Given the description of an element on the screen output the (x, y) to click on. 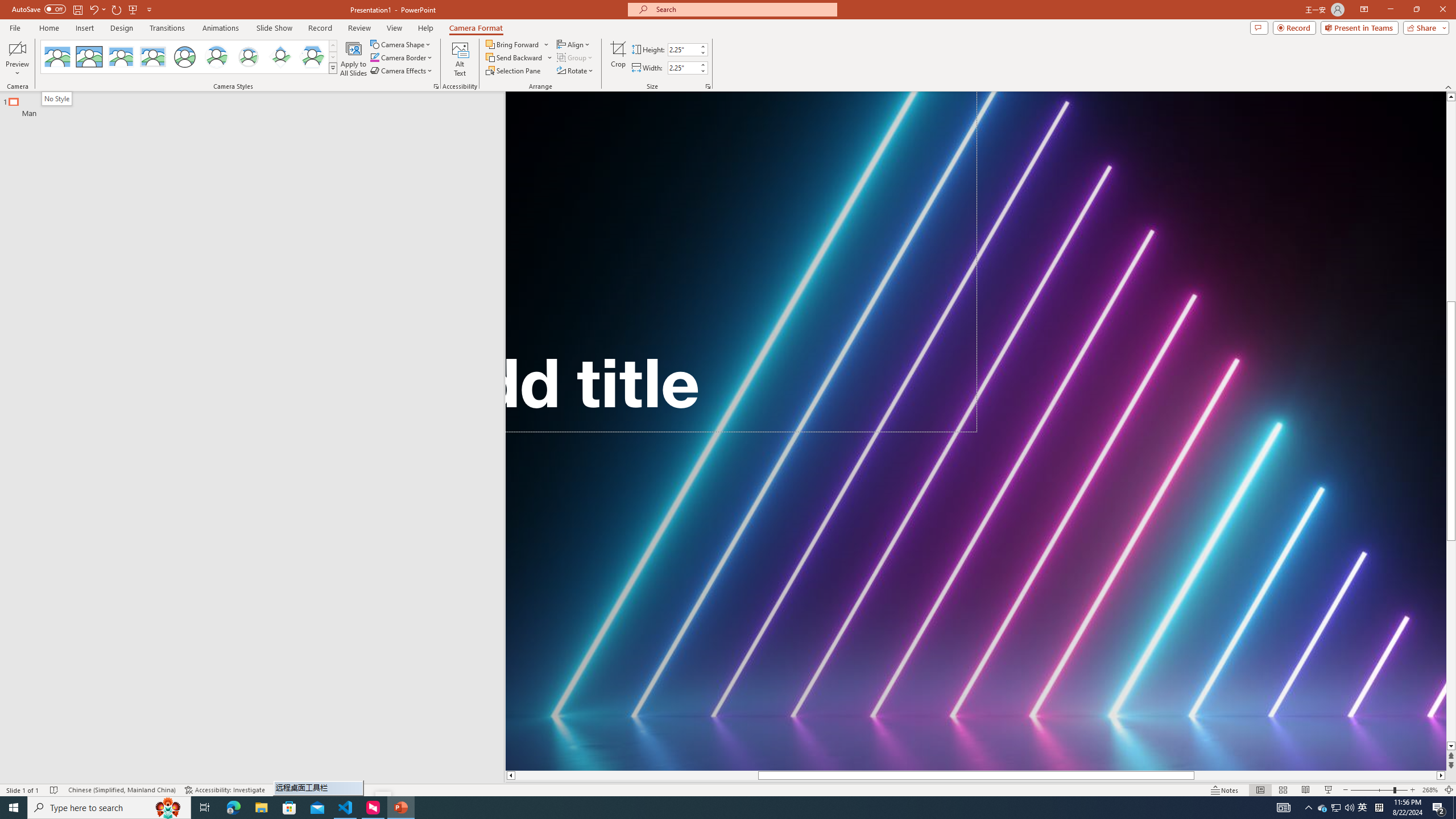
More (702, 64)
Zoom 268% (1430, 790)
Size and Position... (707, 85)
Bring Forward (513, 44)
Enable Camera Preview (17, 48)
Cameo Width (682, 67)
